Given the description of an element on the screen output the (x, y) to click on. 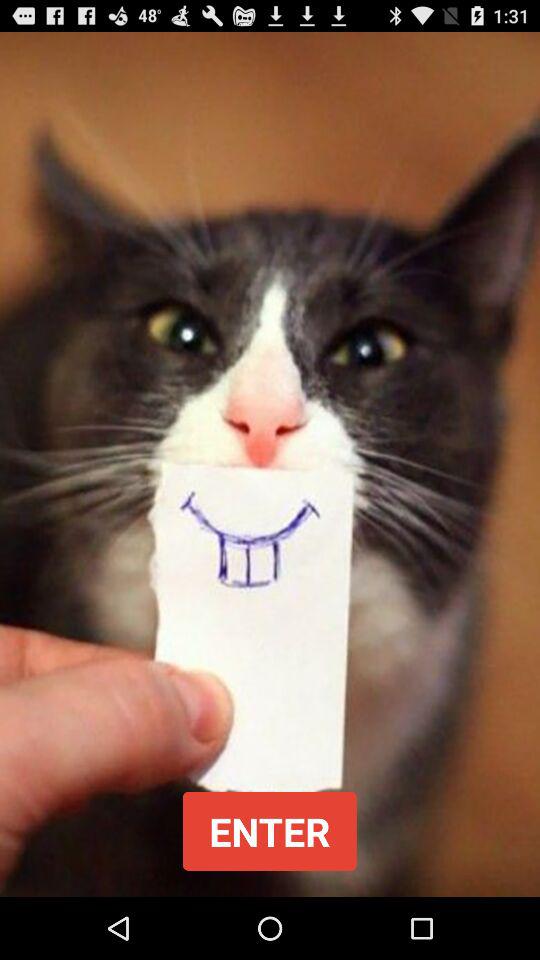
click the enter button (269, 830)
